Given the description of an element on the screen output the (x, y) to click on. 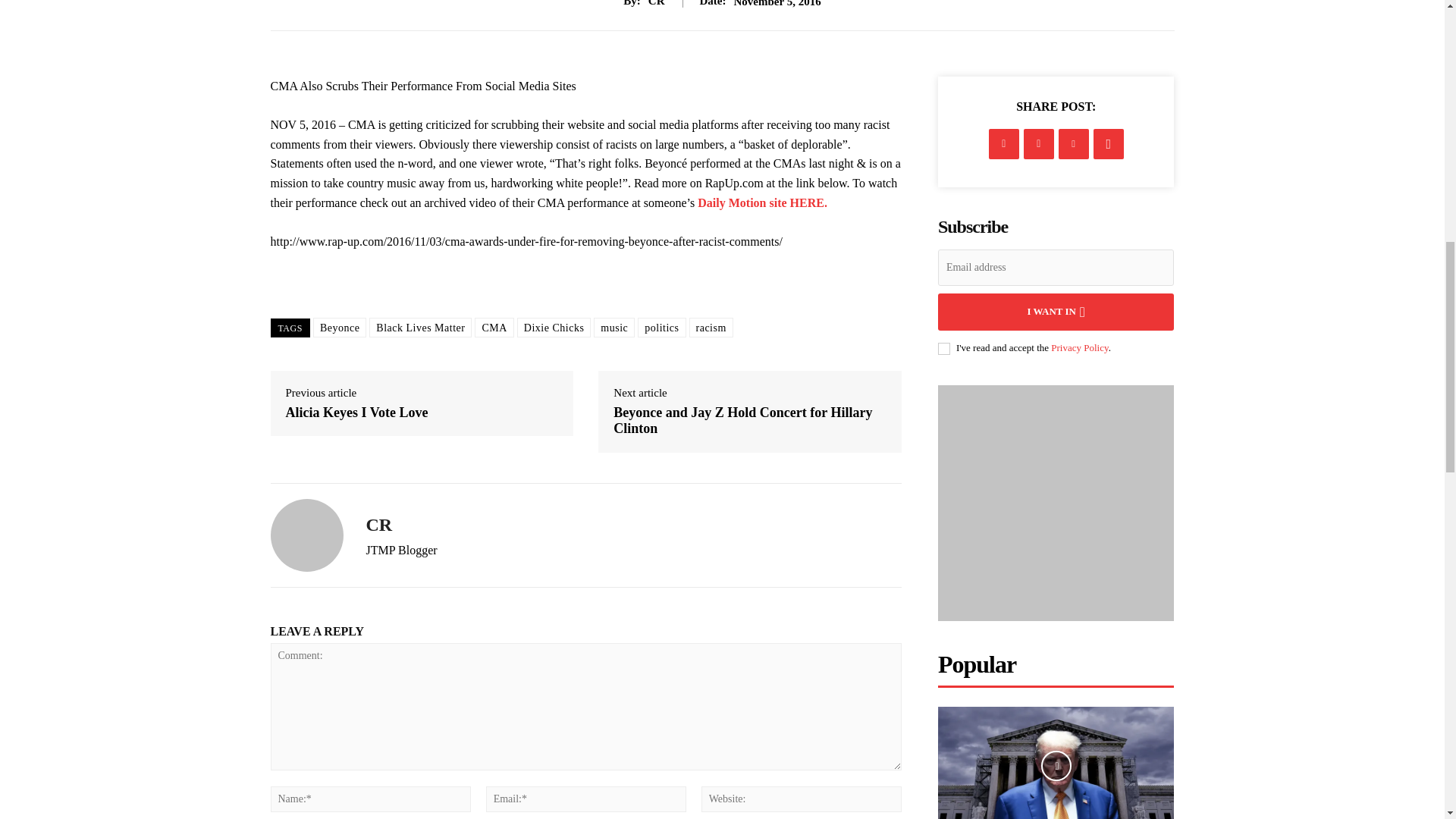
Facebook (1003, 143)
Twitter (1038, 143)
WhatsApp (1108, 143)
SCOTUS SLAMMED Over Trump Immunity Ruling (1055, 762)
Pinterest (1073, 143)
CR (305, 534)
